Given the description of an element on the screen output the (x, y) to click on. 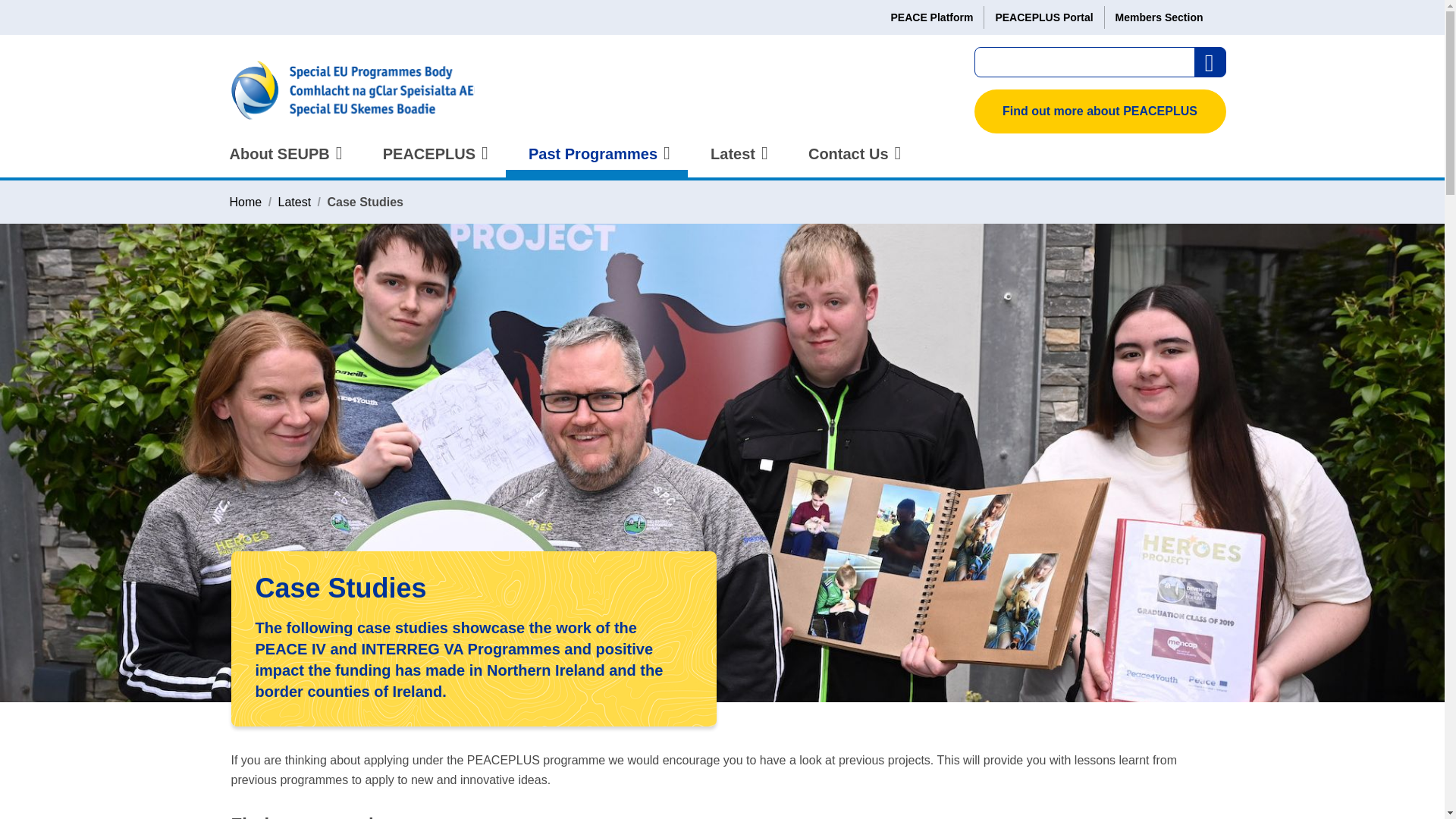
Members Section (1159, 16)
PEACEPLUS (432, 161)
Find out more about PEACEPLUS (1099, 111)
PEACEPLUS Portal (1043, 16)
Past Programmes (596, 161)
About SEUPB (282, 161)
Search the site (1210, 61)
PEACE Platform (931, 16)
Search the site (1210, 61)
